Given the description of an element on the screen output the (x, y) to click on. 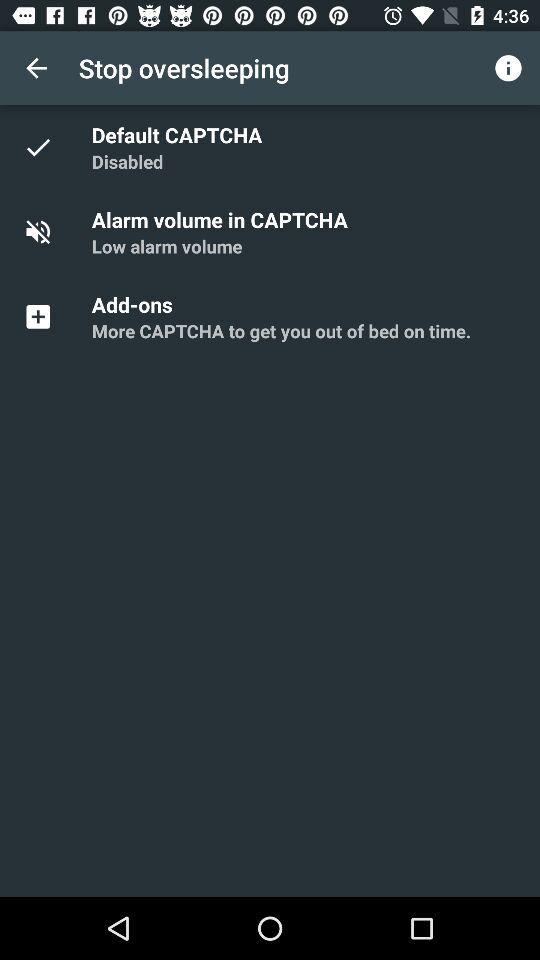
choose the icon at the top right corner (508, 67)
